Given the description of an element on the screen output the (x, y) to click on. 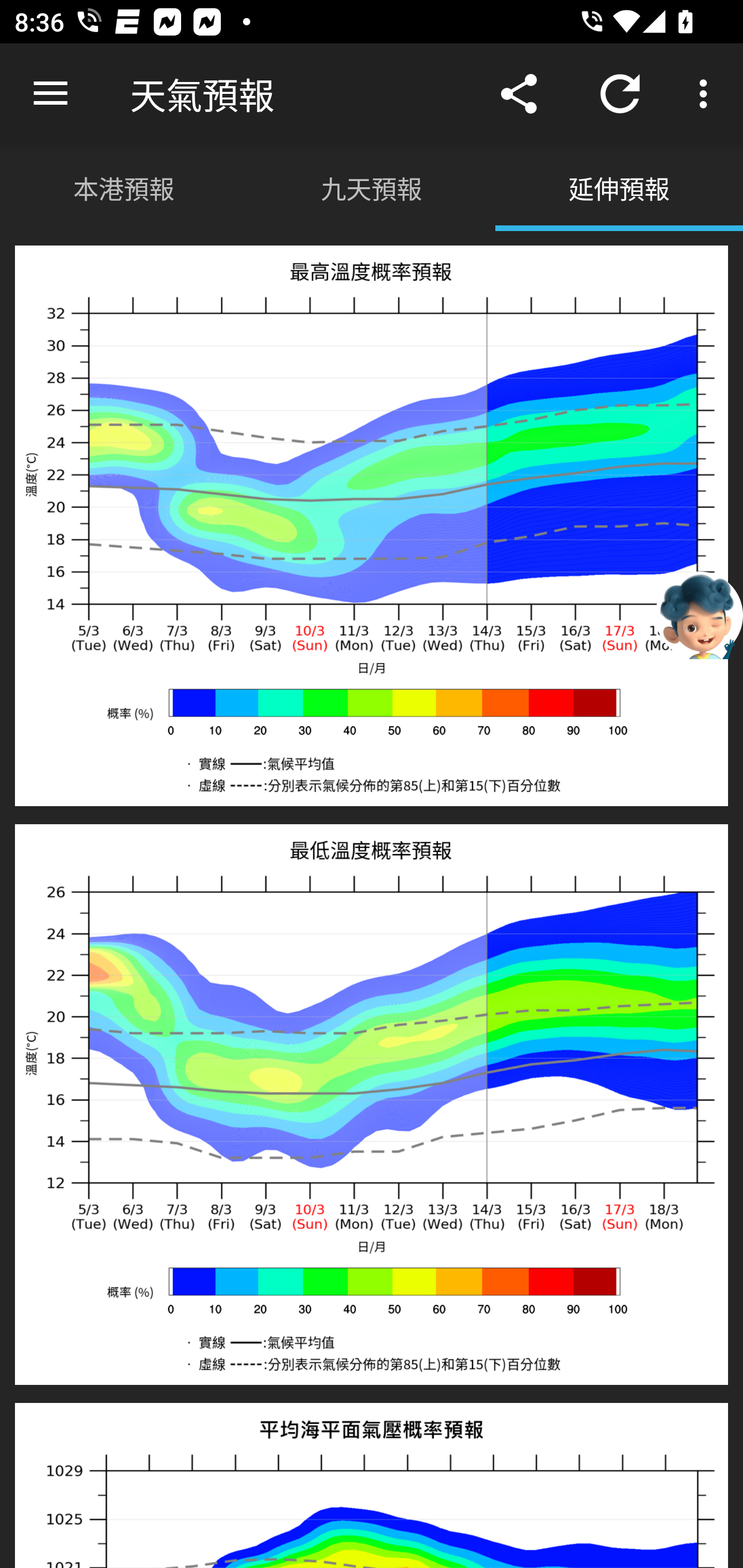
向上瀏覽 (50, 93)
分享 (518, 93)
重新整理 (619, 93)
更多選項 (706, 93)
本港預報 (123, 187)
九天預報 (371, 187)
聊天機械人 (699, 614)
